Given the description of an element on the screen output the (x, y) to click on. 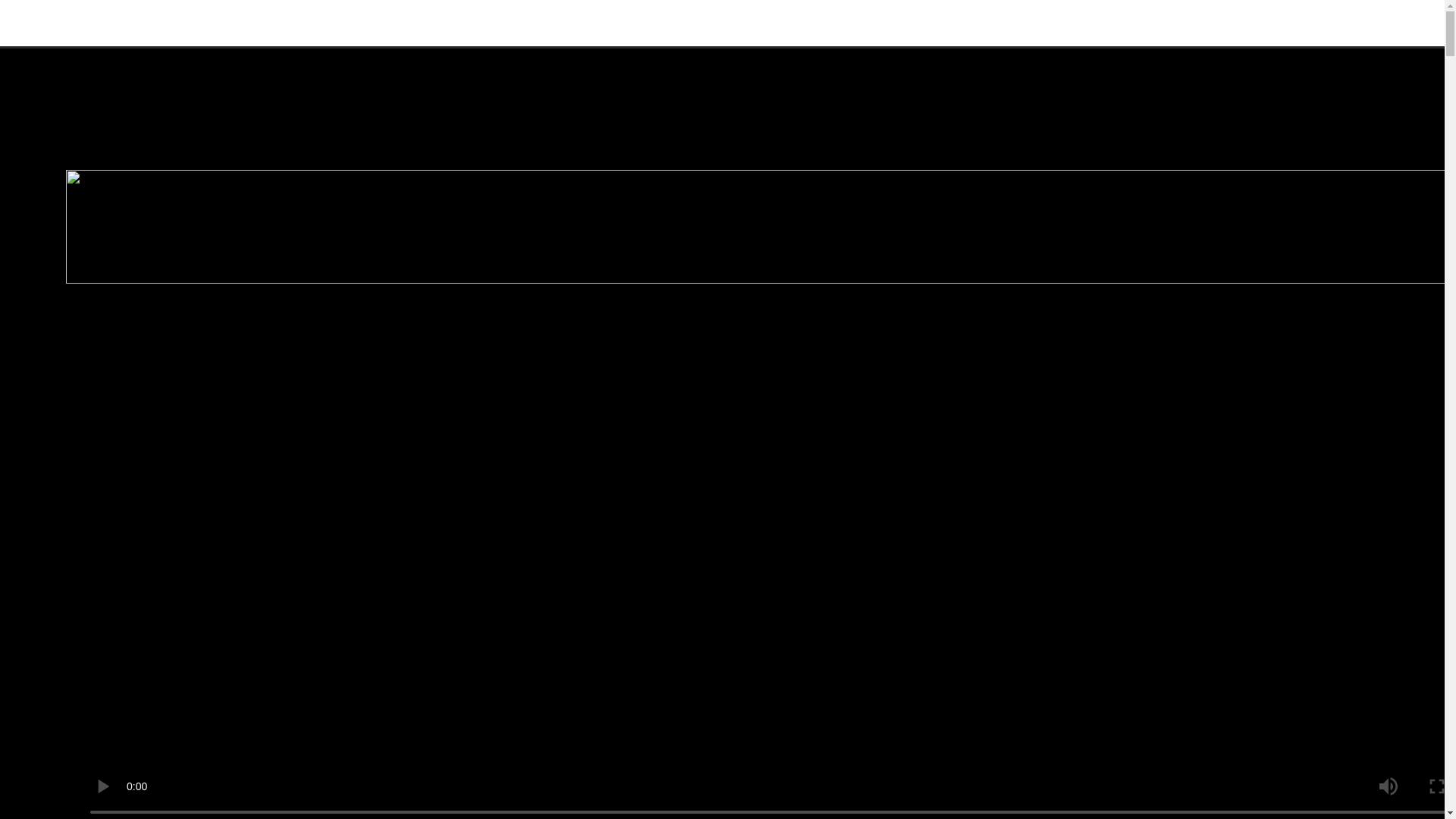
The Life (31, 13)
Reel (73, 13)
About (23, 31)
